Given the description of an element on the screen output the (x, y) to click on. 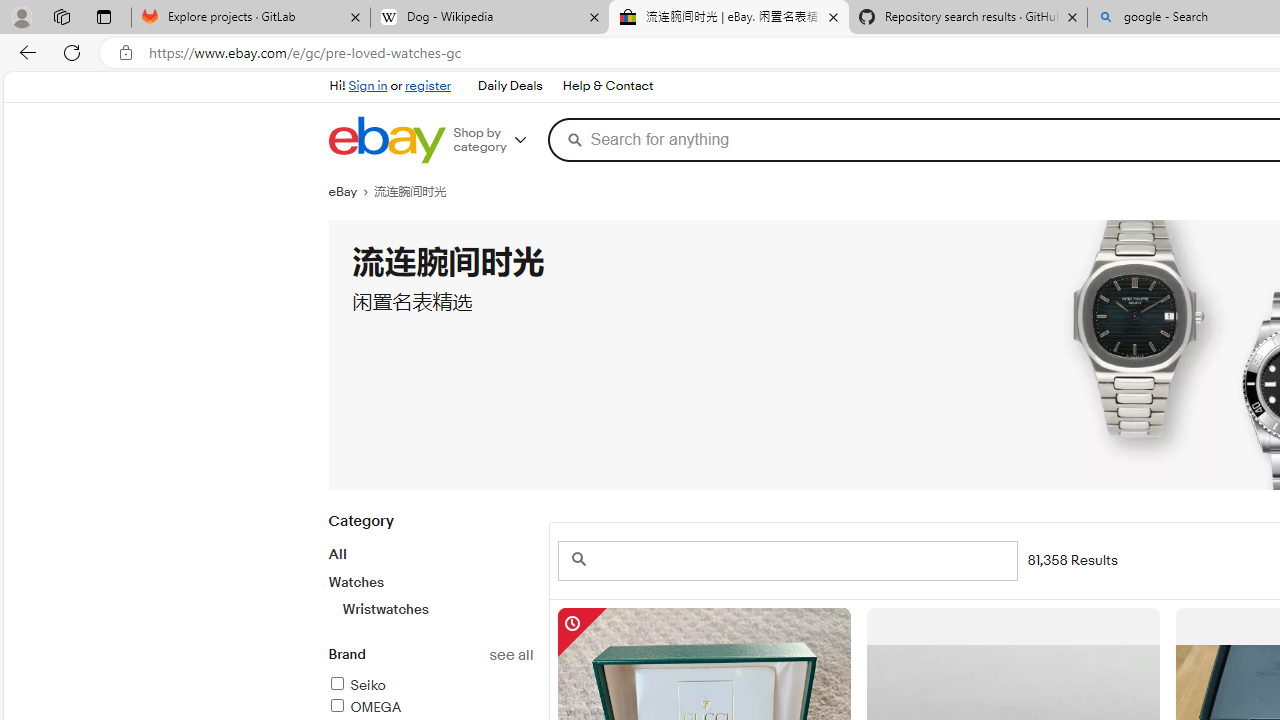
WatchesWristwatches (430, 595)
